Given the description of an element on the screen output the (x, y) to click on. 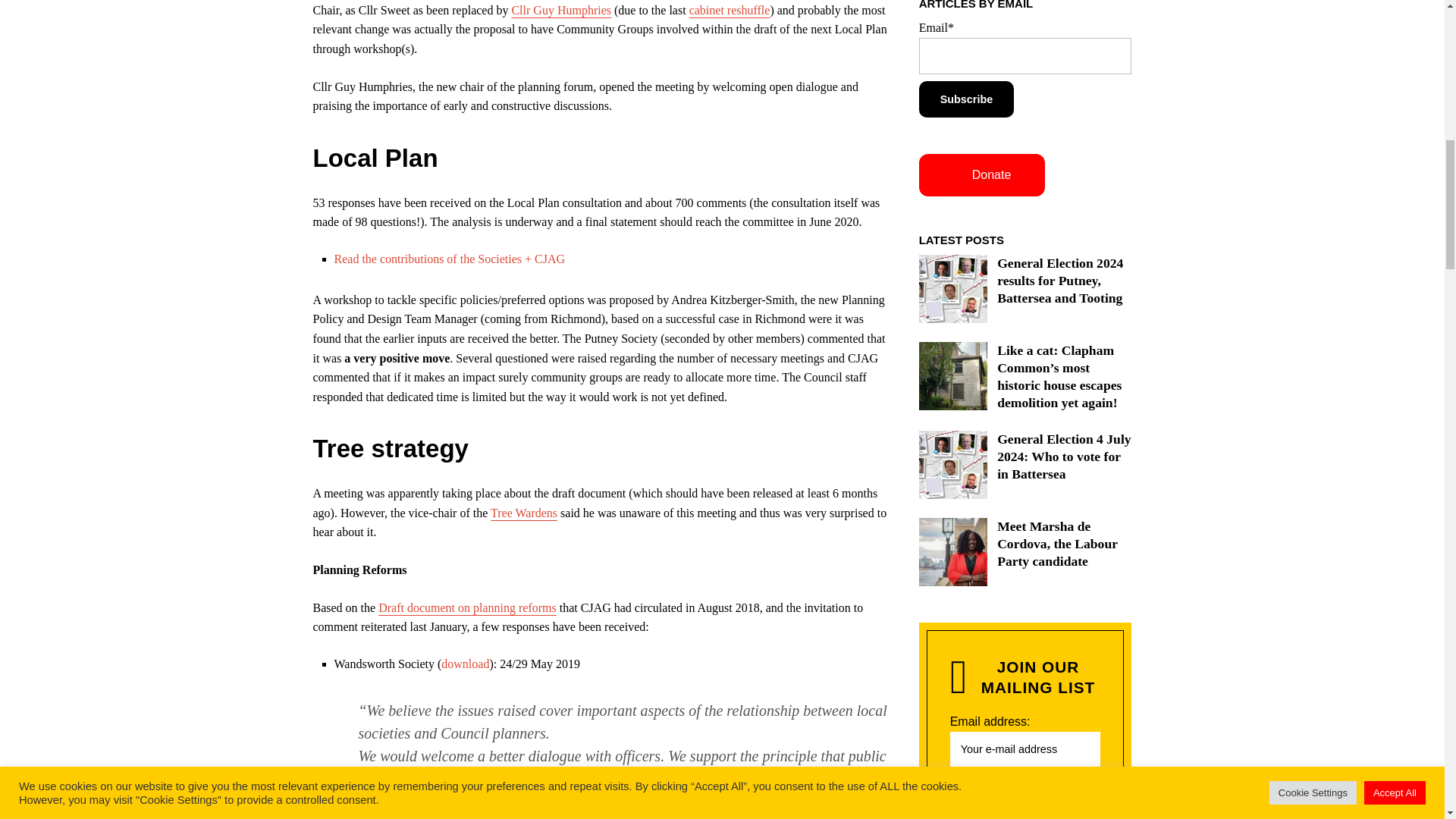
Sign up (1025, 791)
Subscribe (966, 99)
